Given the description of an element on the screen output the (x, y) to click on. 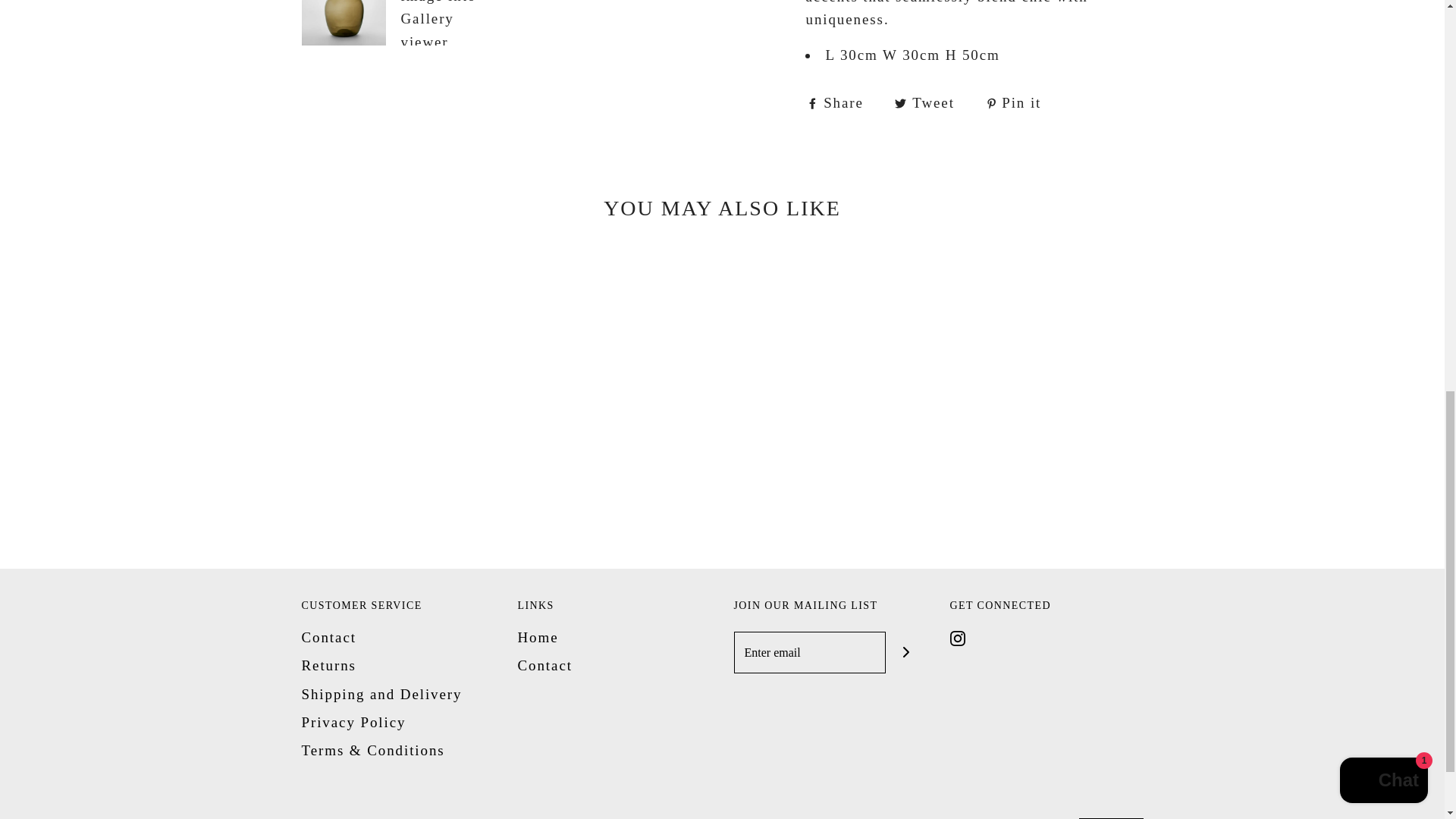
Instagram icon (956, 638)
